Given the description of an element on the screen output the (x, y) to click on. 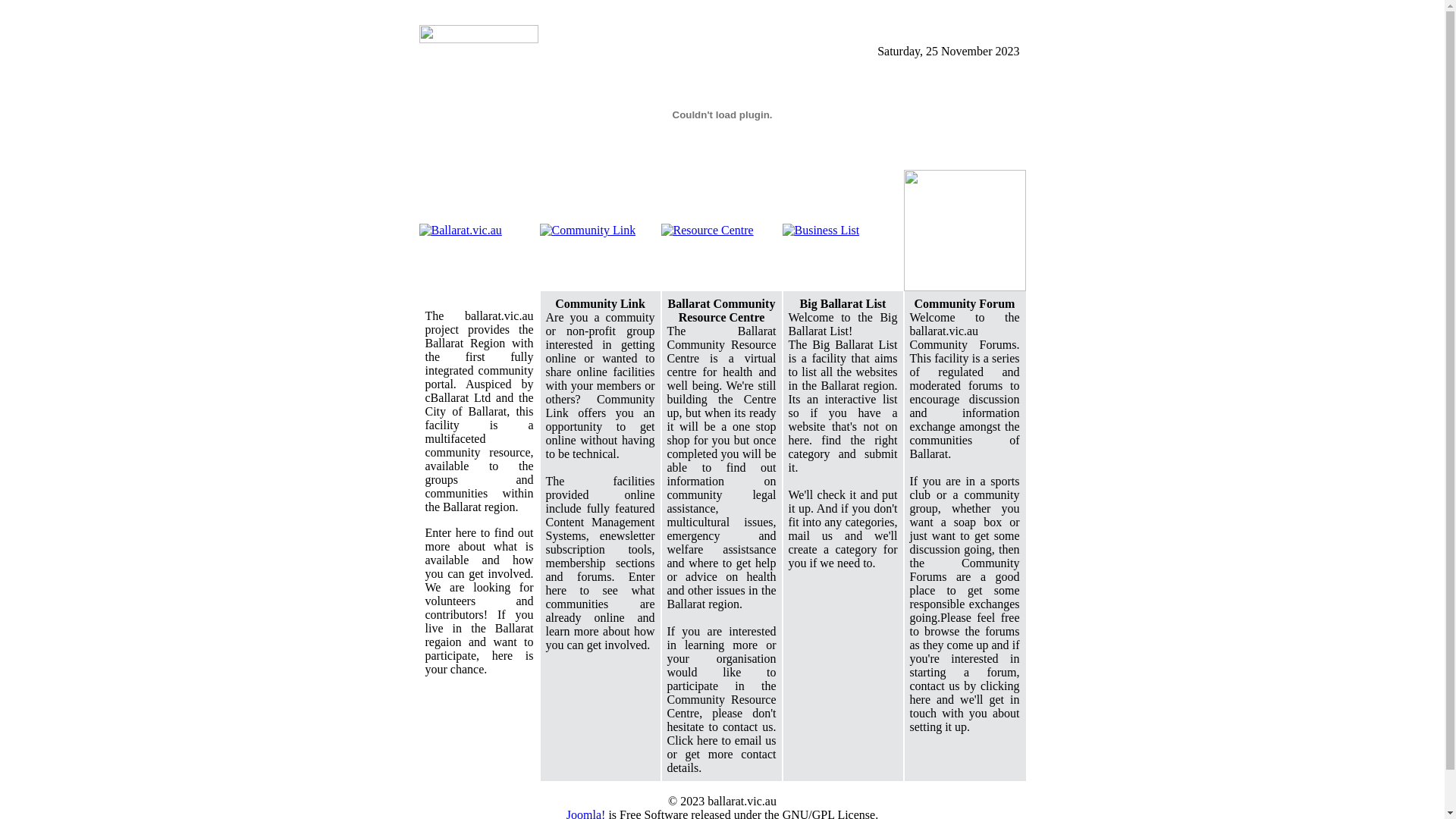
Ballarat Element type: hover (721, 165)
